Given the description of an element on the screen output the (x, y) to click on. 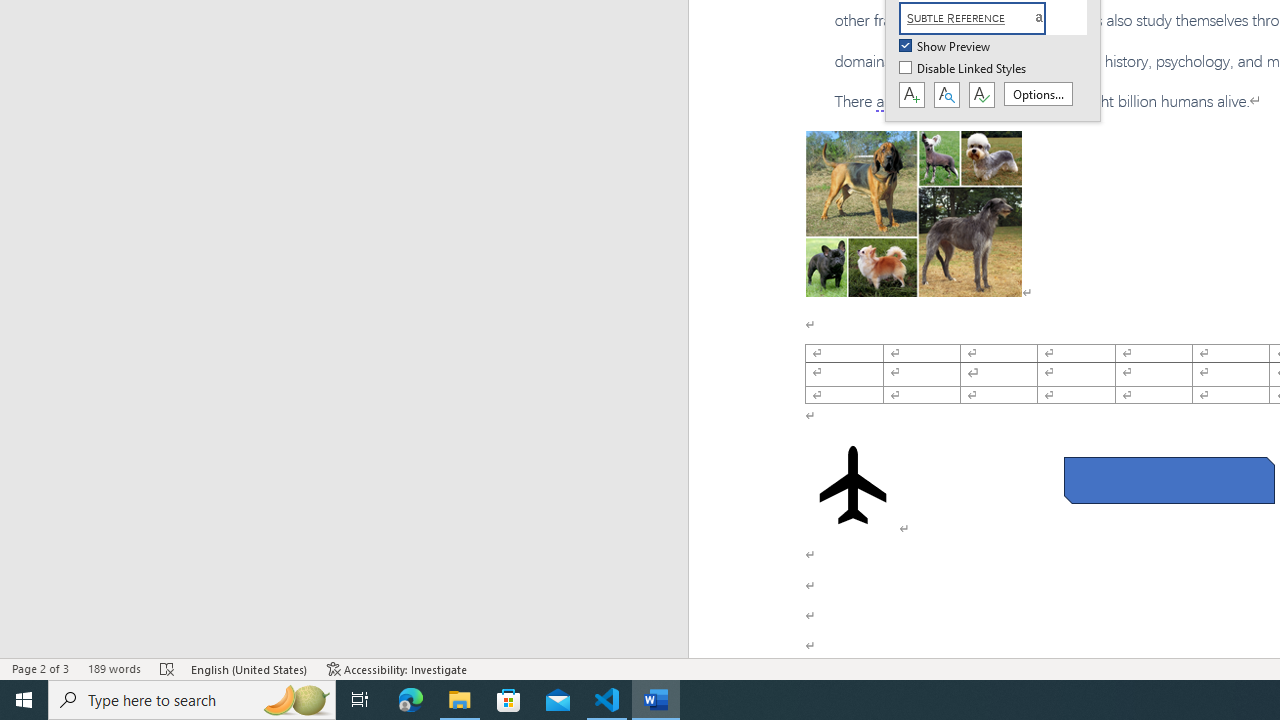
Word - 1 running window (656, 699)
Show Preview (946, 47)
Class: NetUIButton (981, 95)
Rectangle: Diagonal Corners Snipped 2 (1168, 480)
Subtle Reference (984, 18)
Options... (1037, 93)
